Given the description of an element on the screen output the (x, y) to click on. 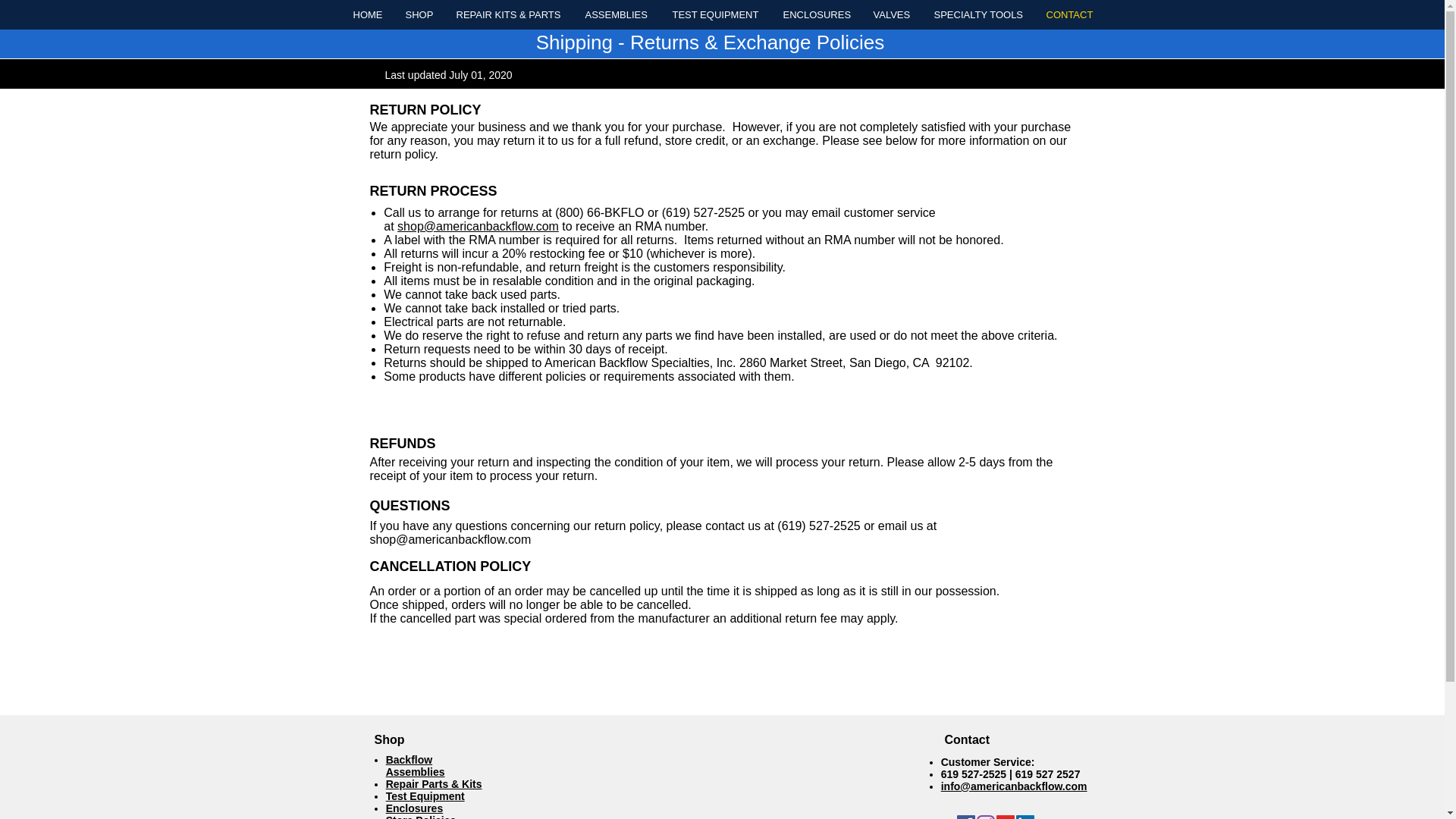
SHOP (419, 14)
ASSEMBLIES (617, 14)
TEST EQUIPMENT (716, 14)
Backflow Assemblies (415, 765)
HOME (366, 14)
CONTACT (1067, 14)
ENCLOSURES (816, 14)
VALVES (891, 14)
SPECIALTY TOOLS (977, 14)
